Given the description of an element on the screen output the (x, y) to click on. 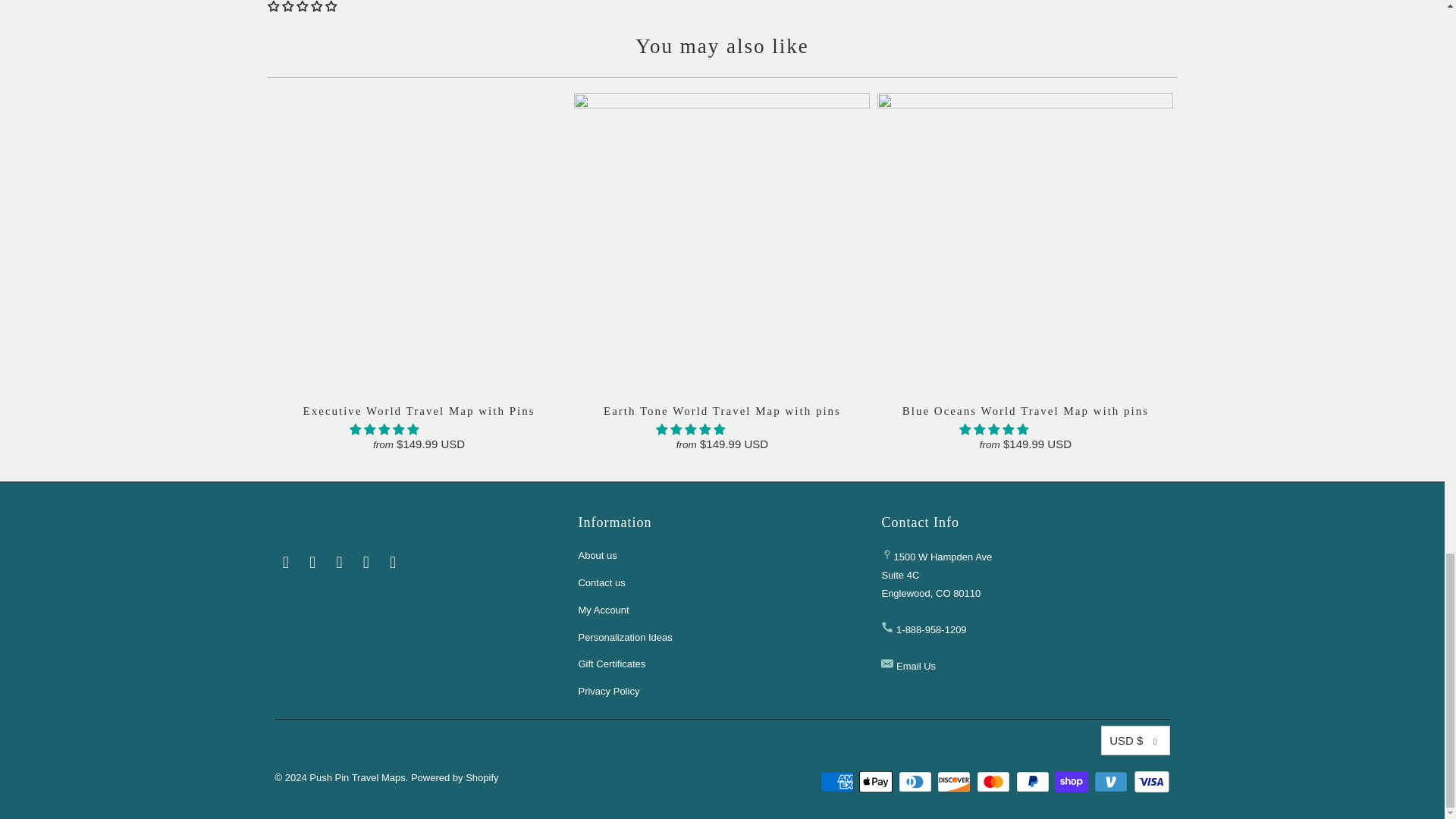
Discover (955, 781)
Apple Pay (877, 781)
Visa (1150, 781)
PayPal (1034, 781)
Venmo (1112, 781)
Shop Pay (1072, 781)
Push Pin Travel Maps on Twitter (286, 562)
Mastercard (994, 781)
American Express (839, 781)
Diners Club (916, 781)
